Given the description of an element on the screen output the (x, y) to click on. 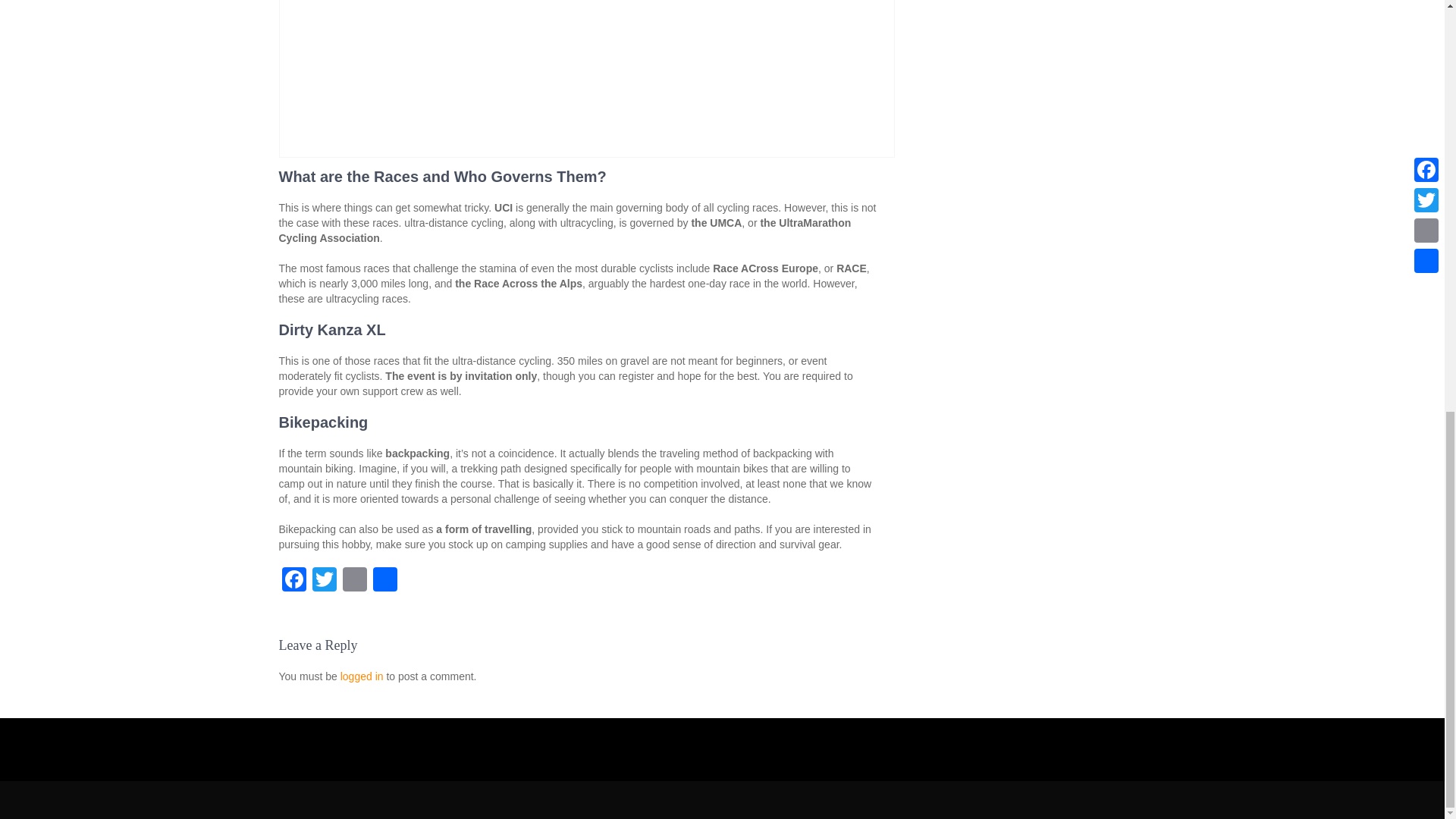
Twitter (323, 581)
Facebook (293, 581)
logged in (362, 676)
Email (354, 581)
Twitter (323, 581)
Email (354, 581)
Facebook (293, 581)
